Given the description of an element on the screen output the (x, y) to click on. 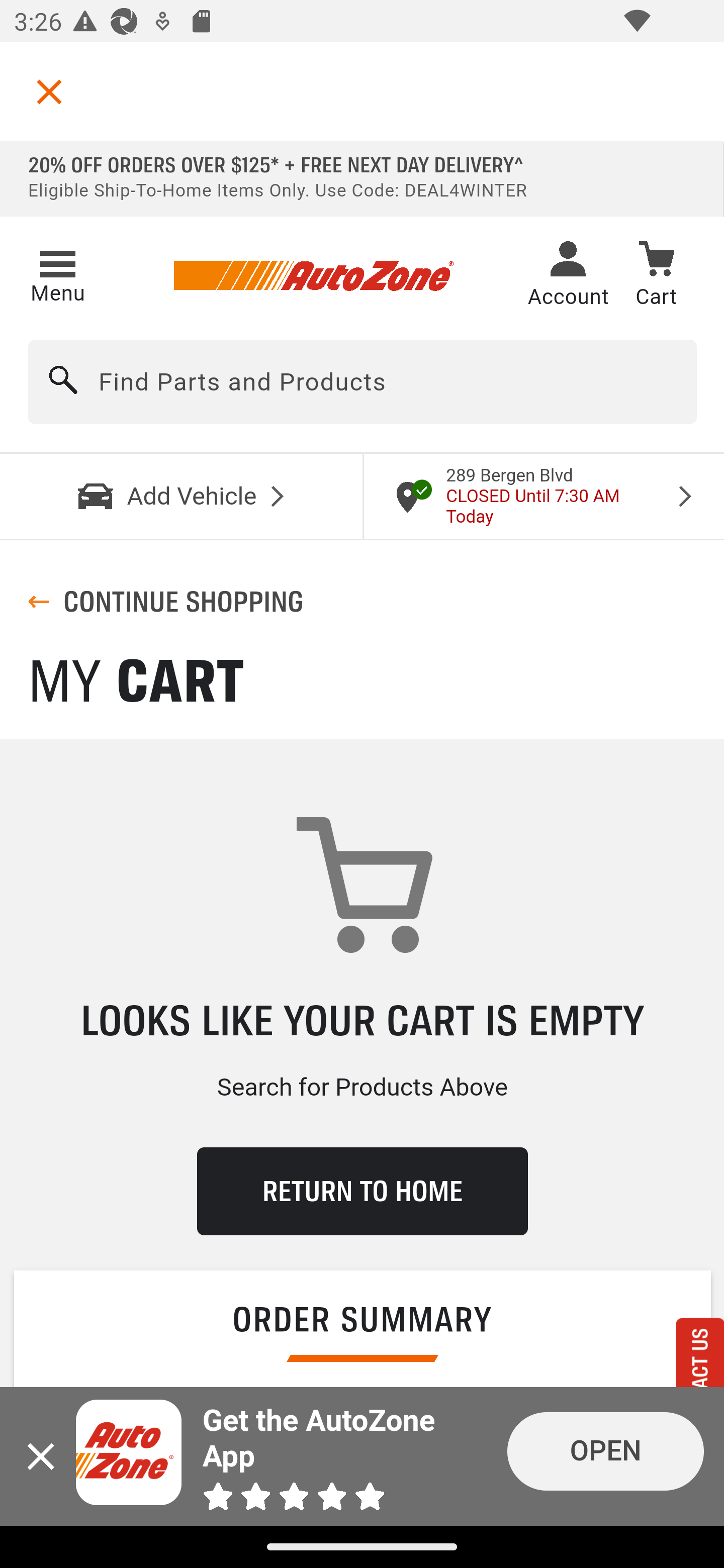
 (49, 91)
Menu (57, 273)
Account (567, 276)
AutoZone Logo (links to homepage) (312, 276)
shopping cart 0 items (655, 277)
Search (63, 382)
Add Vehicle (182, 495)
Back to Continue Shopping CONTINUE SHOPPING (166, 601)
RETURN TO HOME (361, 1191)
Close icon Get the AutoZone App OPEN (362, 1456)
